Given the description of an element on the screen output the (x, y) to click on. 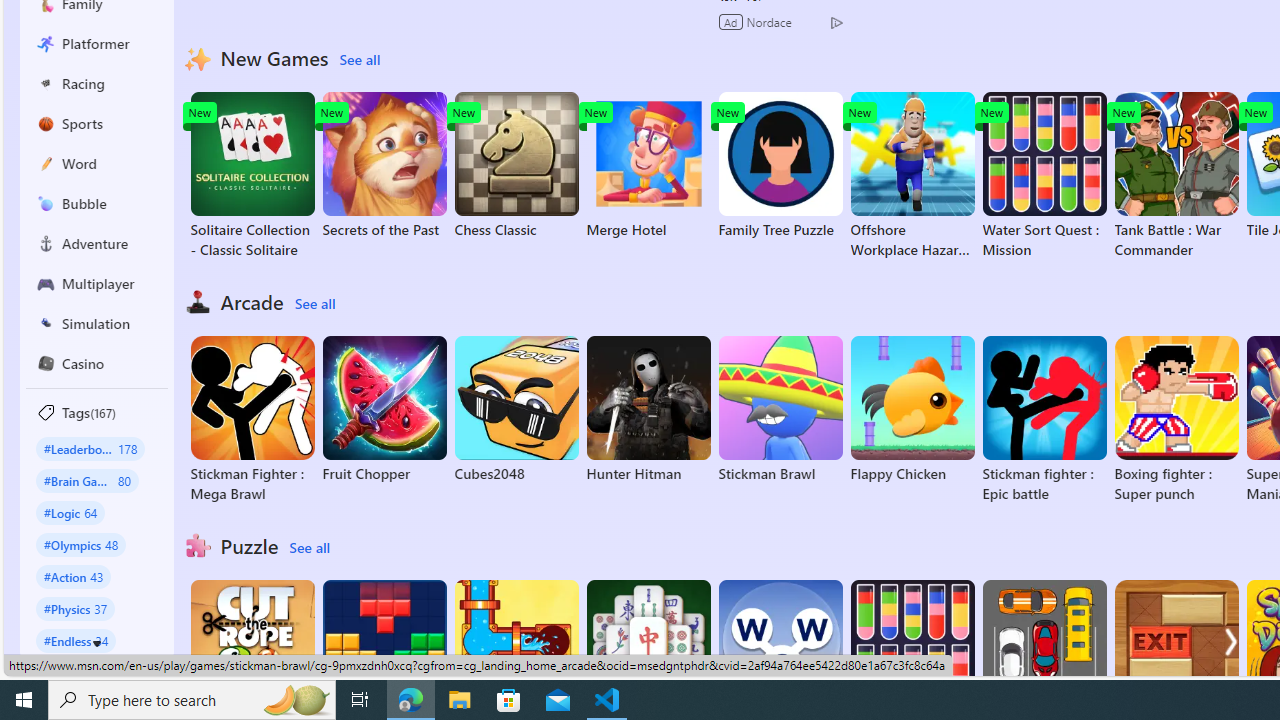
Cubes2048 (516, 409)
Flappy Chicken (912, 409)
Stickman Fighter : Mega Brawl (251, 419)
Merge Hotel (648, 165)
Hunter Hitman (648, 409)
Chess Classic (516, 165)
#Leaderboard 178 (90, 448)
#Physics 37 (75, 608)
#Olympics 48 (80, 544)
Offshore Workplace Hazard Game (912, 175)
Boxing fighter : Super punch (1176, 419)
#Logic 64 (70, 511)
Water Sort Quest : Mission (1044, 175)
